Given the description of an element on the screen output the (x, y) to click on. 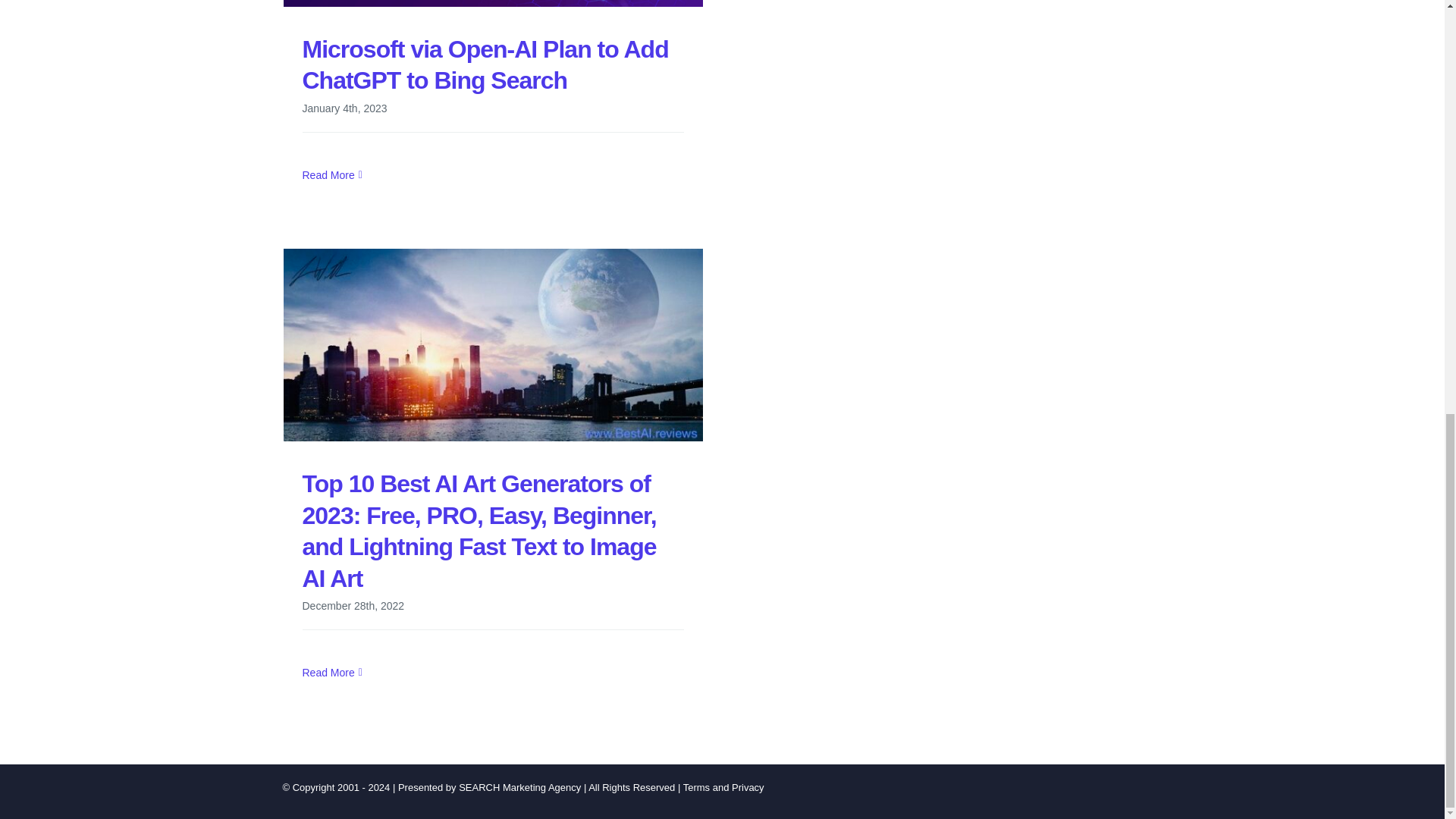
Microsoft via Open-AI Plan to Add ChatGPT to Bing Search (484, 65)
SEARCH Marketing Agency (519, 787)
Terms and Privacy (723, 787)
Read More (327, 672)
Read More (327, 174)
